Given the description of an element on the screen output the (x, y) to click on. 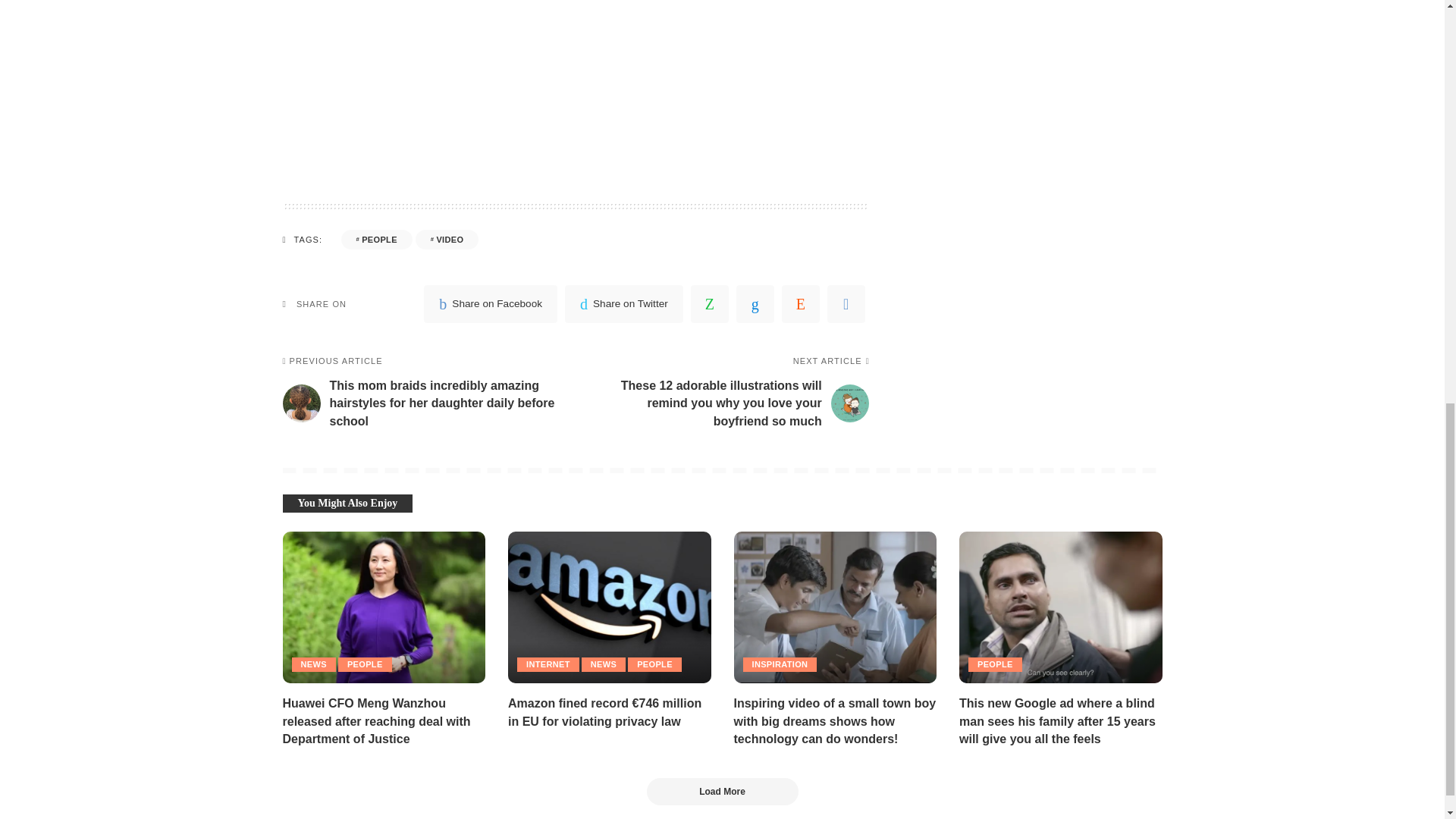
Twitter (623, 303)
People (376, 239)
WhatsApp (709, 303)
Video (446, 239)
Facebook (490, 303)
